Given the description of an element on the screen output the (x, y) to click on. 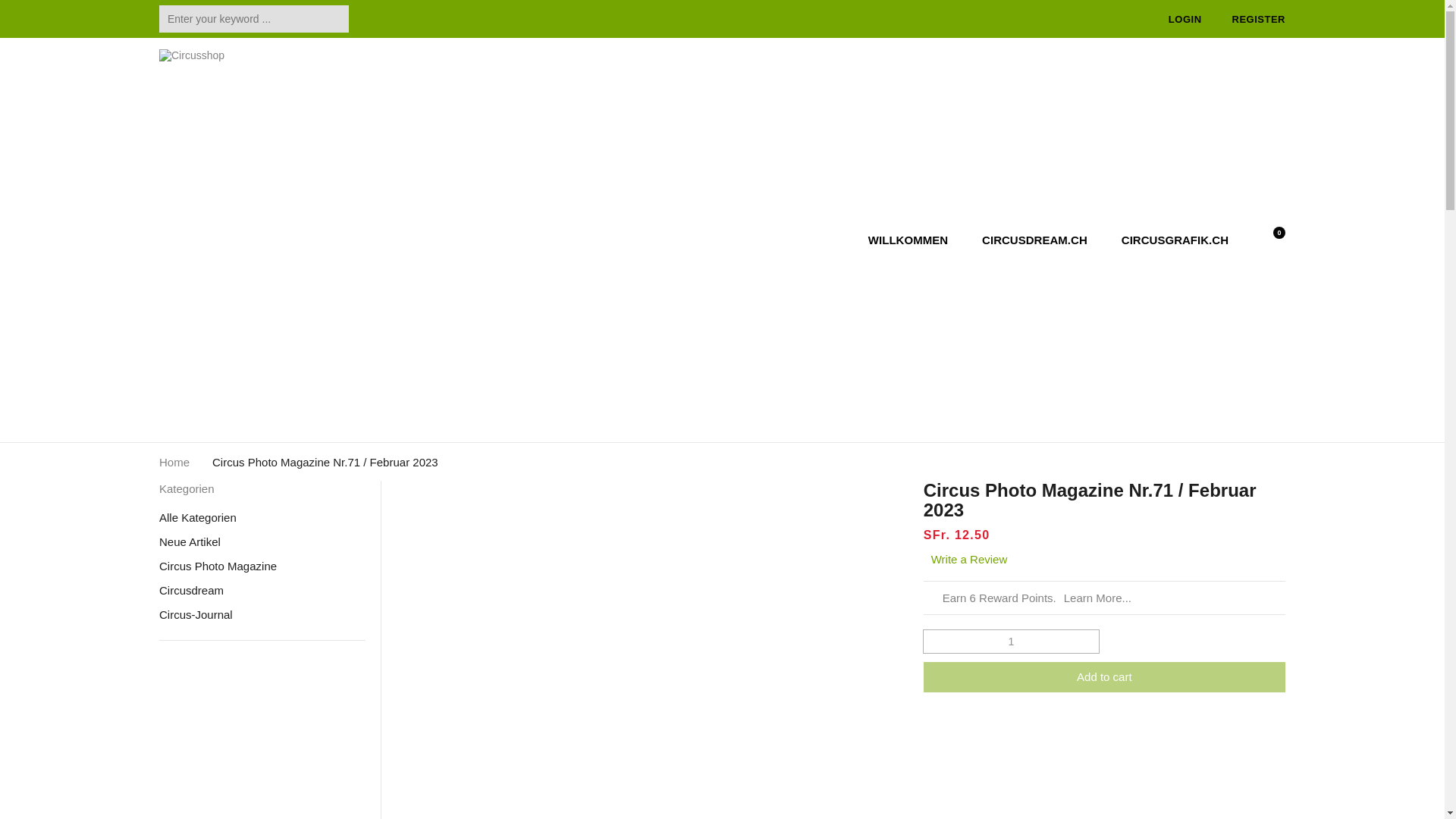
REGISTER (1258, 19)
CIRCUSGRAFIK.CH (1173, 239)
LOGIN (1190, 19)
1 (1010, 640)
CIRCUSDREAM.CH (1034, 239)
WILLKOMMEN (909, 239)
Back to the frontpage (173, 461)
